Given the description of an element on the screen output the (x, y) to click on. 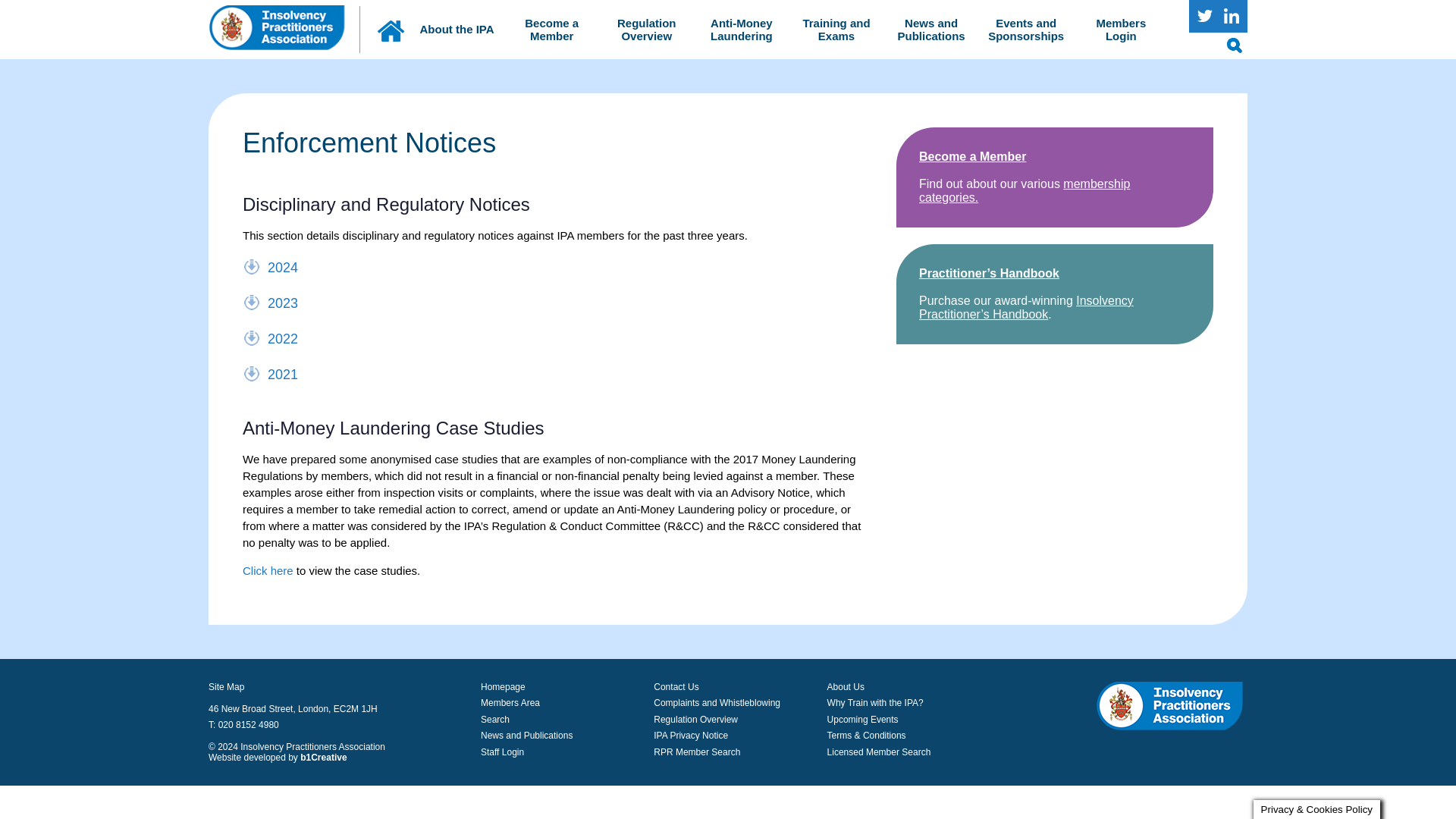
Become a Member (550, 28)
Regulation Overview (646, 28)
Training and Exams (836, 28)
Anti-Money Laundering (741, 28)
News and Publications (930, 28)
About the IPA (456, 28)
